Given the description of an element on the screen output the (x, y) to click on. 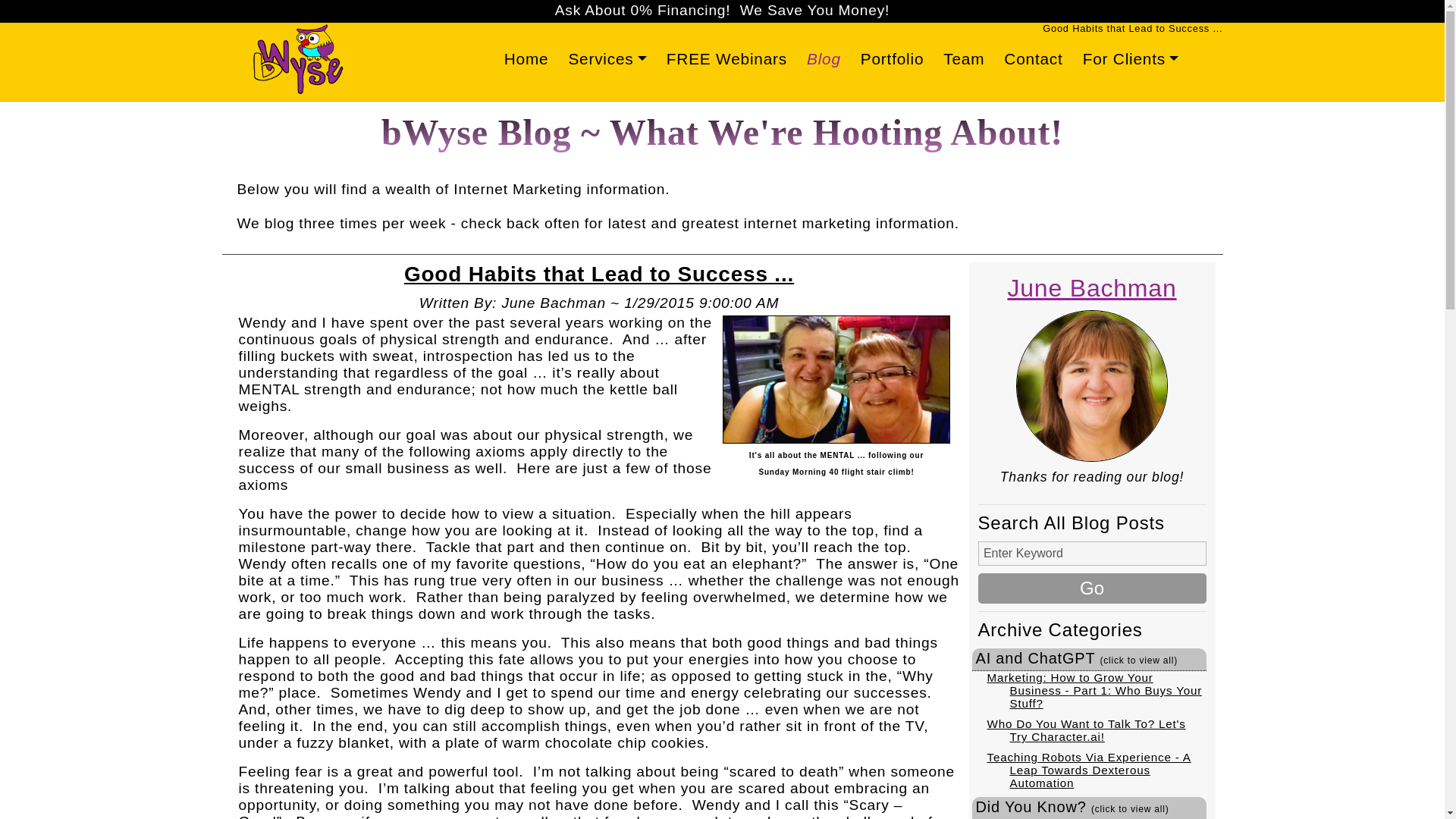
For Clients (1131, 58)
 Enter Keyword (1092, 553)
Go (1092, 588)
FREE Webinars (727, 58)
Go (1092, 588)
Portfolio (892, 58)
Blog (823, 58)
Who Do You Want to Talk To? Let's Try Character.ai! (1086, 729)
June Bachman (1091, 288)
Services (607, 58)
Contact (1032, 58)
Team (963, 58)
Home (525, 58)
